Given the description of an element on the screen output the (x, y) to click on. 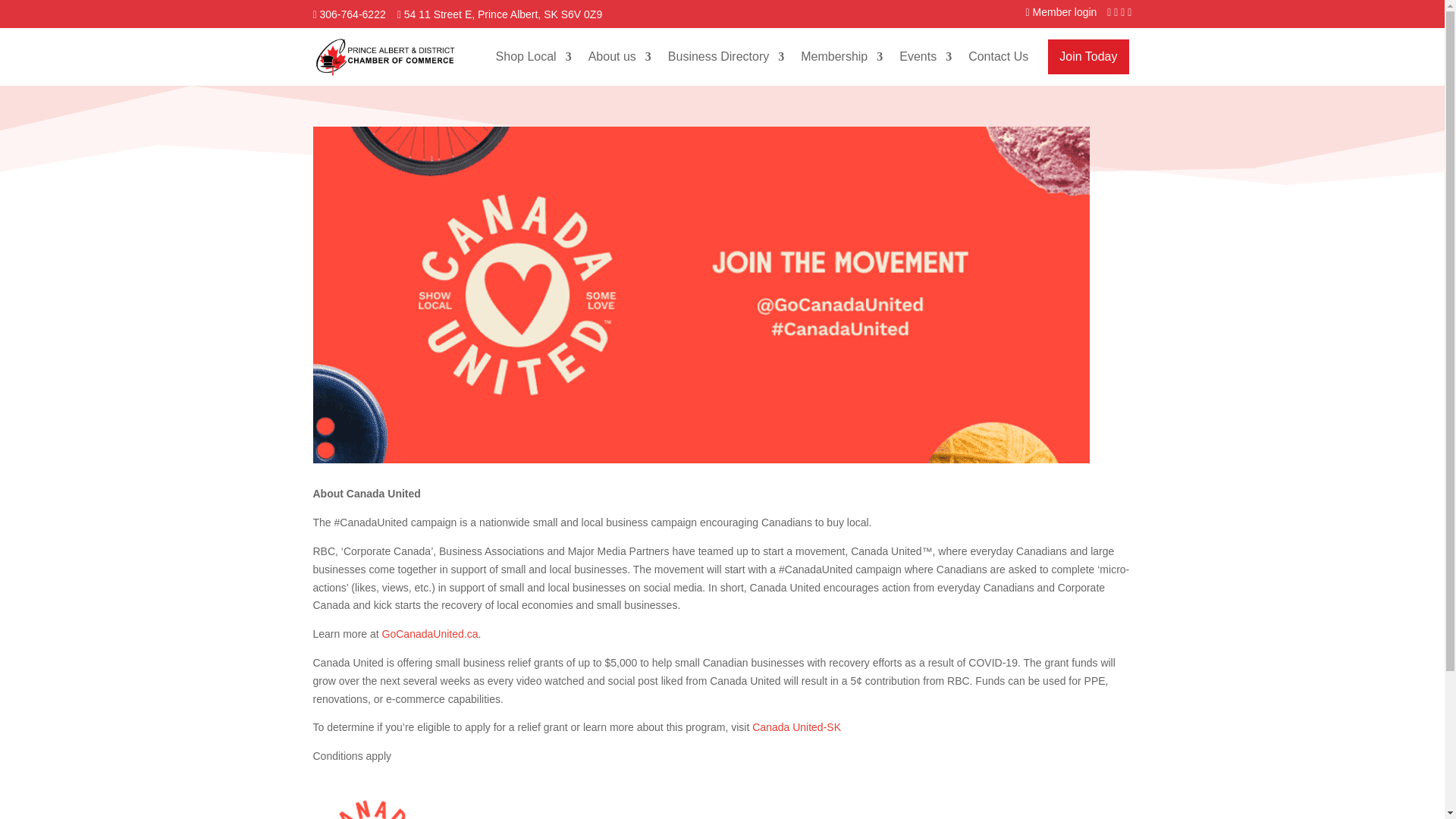
Membership (841, 56)
Member login (1064, 11)
Contact Us (997, 56)
Shop Local (534, 56)
Business Directory (726, 56)
Events (925, 56)
GoCanadaUnited.ca (430, 633)
Join Today (1088, 56)
Canada United-SK (796, 727)
About us (619, 56)
